Given the description of an element on the screen output the (x, y) to click on. 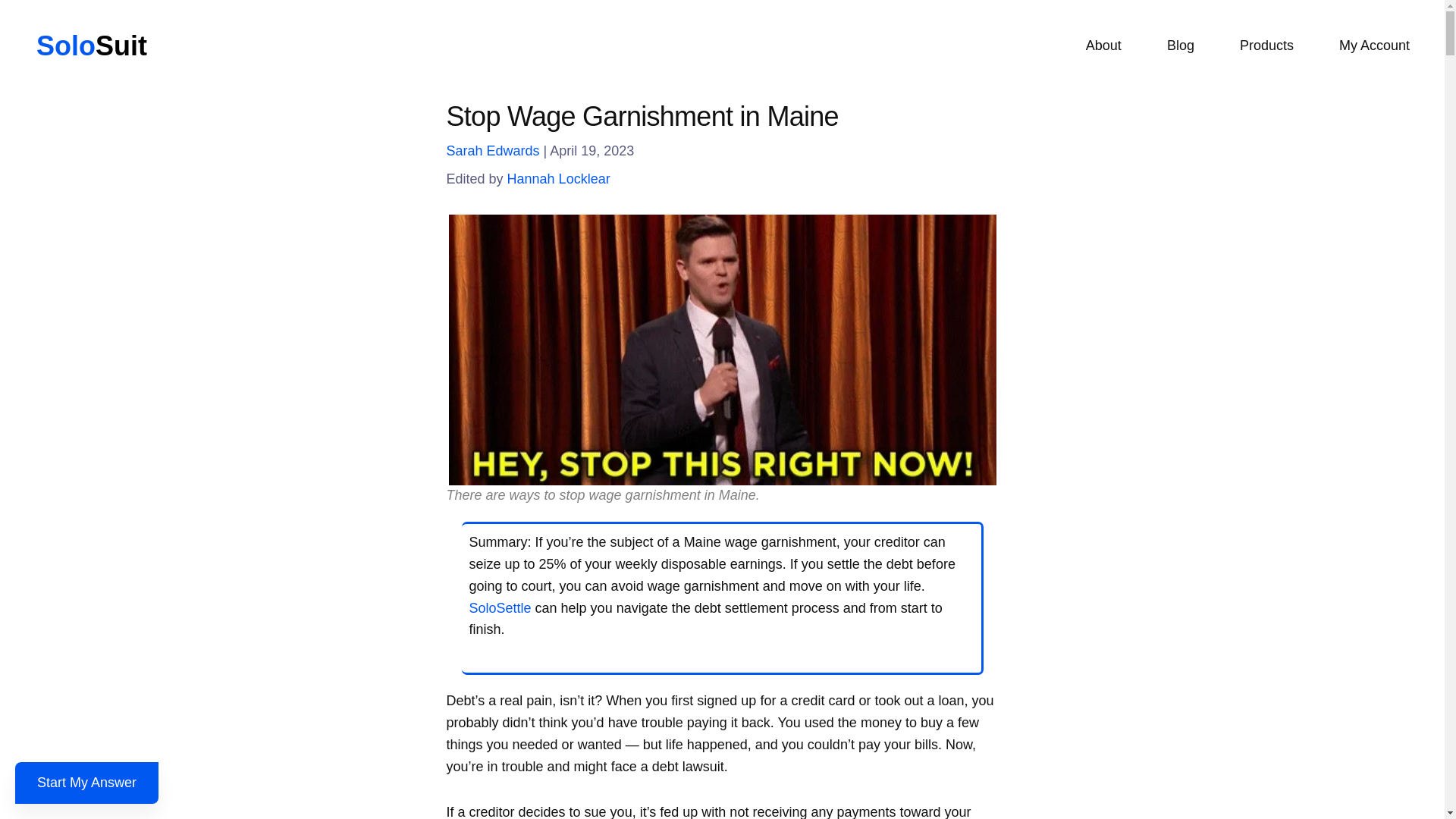
SoloSettle (499, 607)
My Account (1374, 45)
Hannah Locklear (558, 178)
Sarah Edwards (491, 150)
SoloSuit (91, 45)
About (1103, 45)
Start My Answer (86, 782)
Blog (1180, 45)
Products (1266, 45)
